Given the description of an element on the screen output the (x, y) to click on. 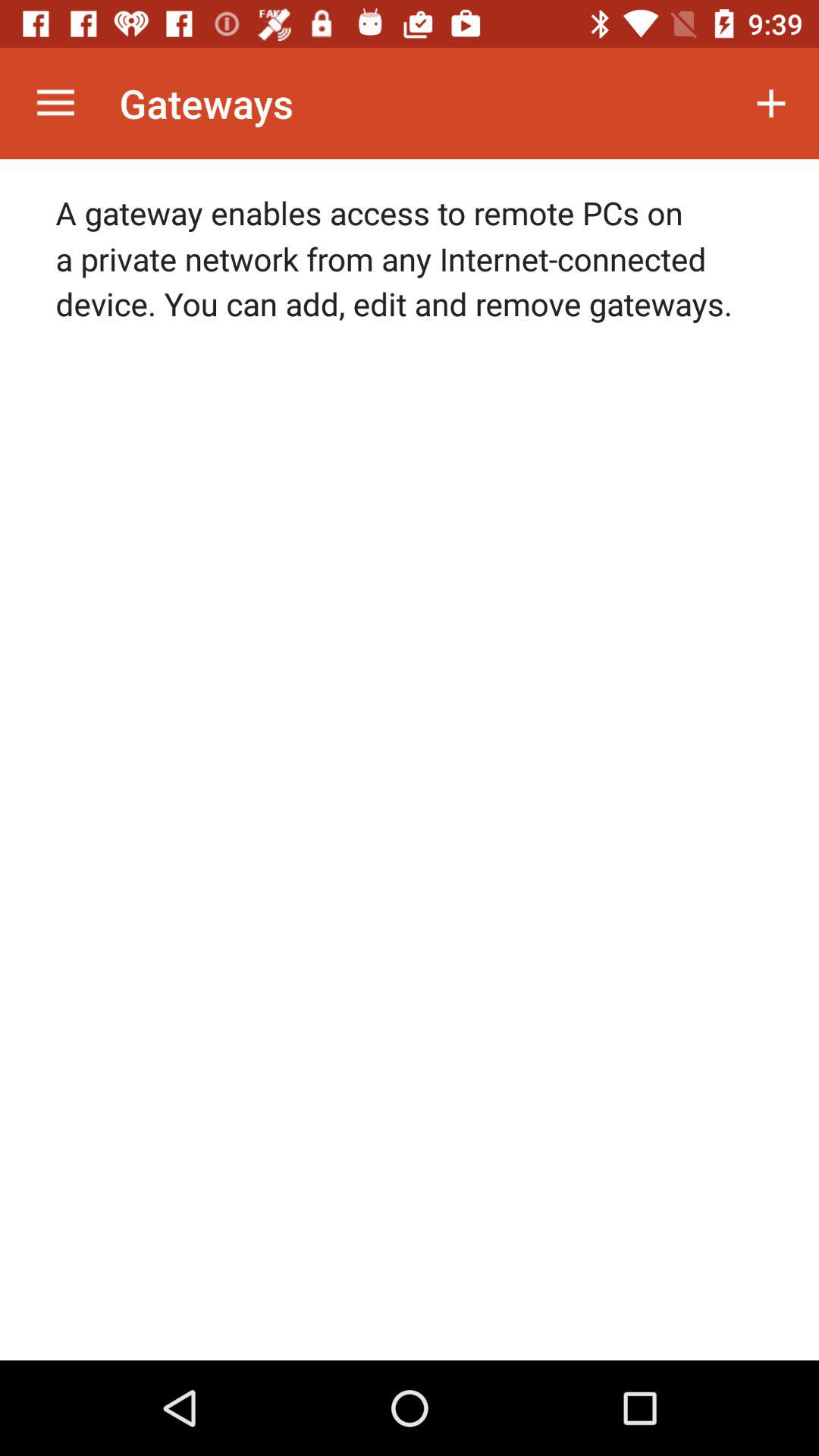
select the icon above the a gateway enables (55, 103)
